Given the description of an element on the screen output the (x, y) to click on. 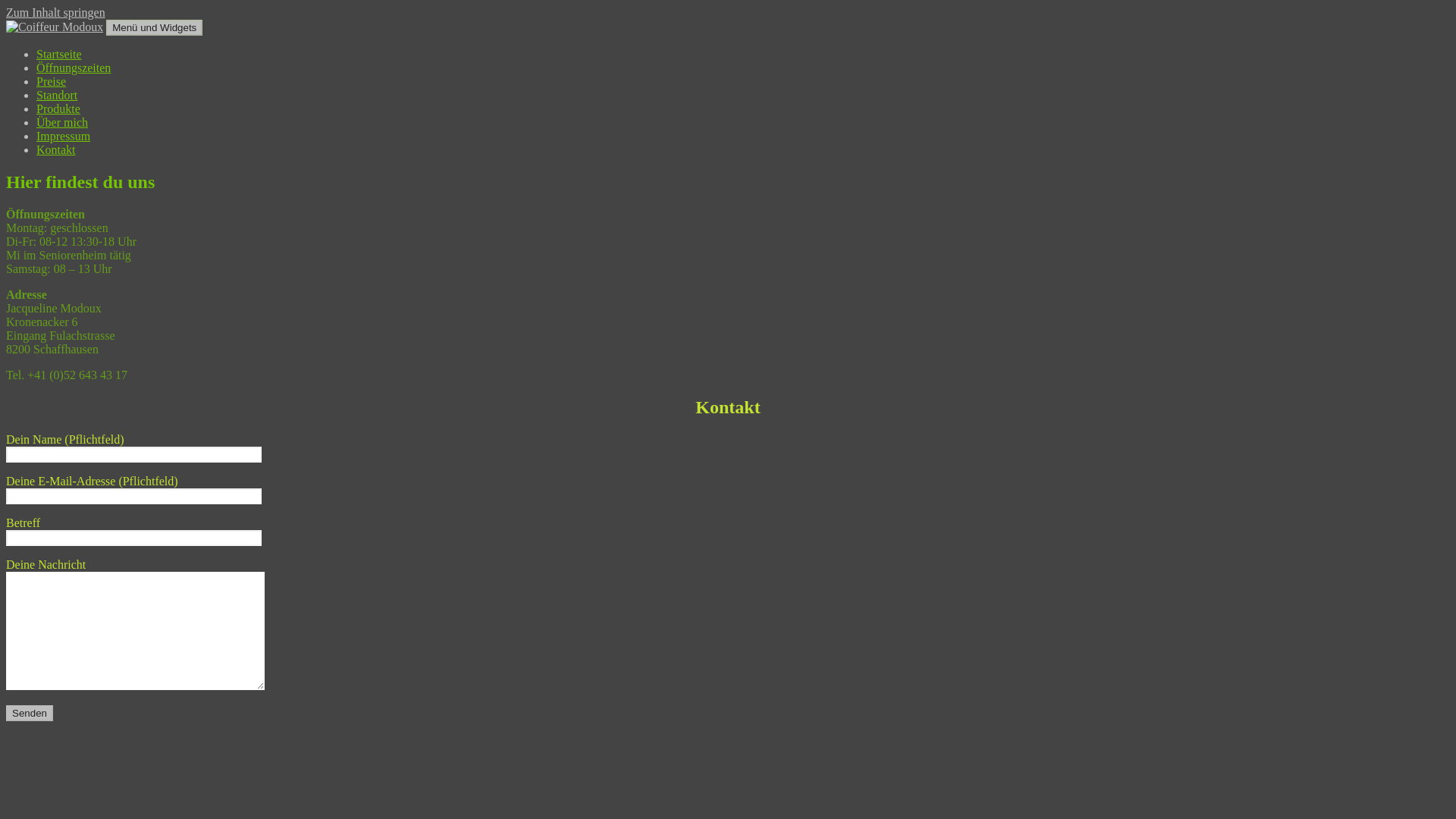
Startseite Element type: text (58, 53)
Kontakt Element type: text (55, 149)
Zum Inhalt springen Element type: text (55, 12)
Preise Element type: text (50, 81)
Produkte Element type: text (58, 108)
Standort Element type: text (56, 94)
Senden Element type: text (29, 713)
Impressum Element type: text (63, 135)
Coiffeur Modoux Element type: text (48, 53)
